Given the description of an element on the screen output the (x, y) to click on. 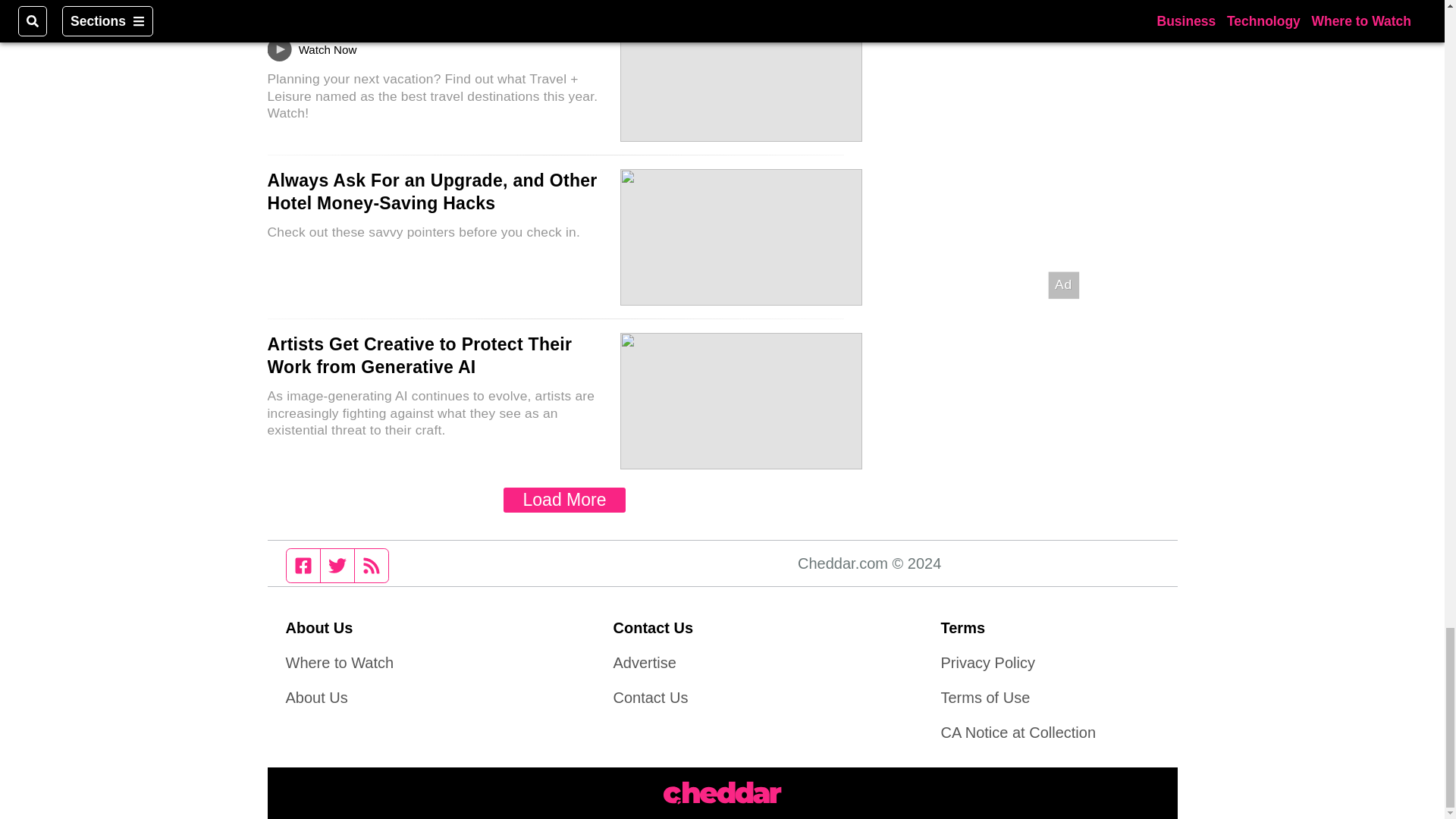
The Top Travel Destinations In 2024 (417, 16)
Load More (564, 499)
Twitter feed (336, 565)
Facebook page (303, 565)
RSS feed (371, 565)
